Given the description of an element on the screen output the (x, y) to click on. 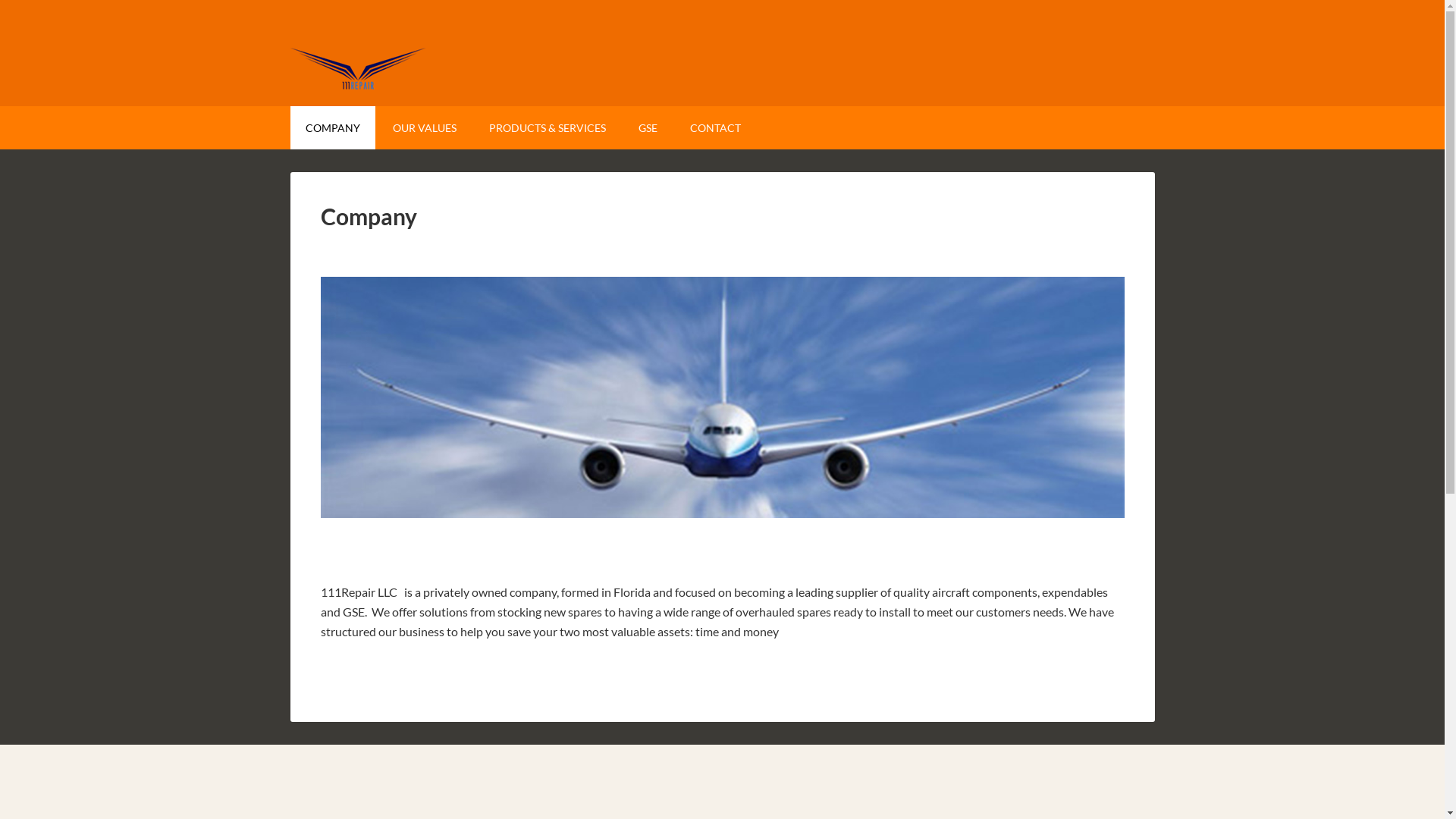
GSE Element type: text (647, 127)
CONTACT Element type: text (715, 127)
111REPAIR.COM Element type: text (721, 53)
COMPANY Element type: text (331, 127)
PRODUCTS & SERVICES Element type: text (546, 127)
OUR VALUES Element type: text (424, 127)
